Given the description of an element on the screen output the (x, y) to click on. 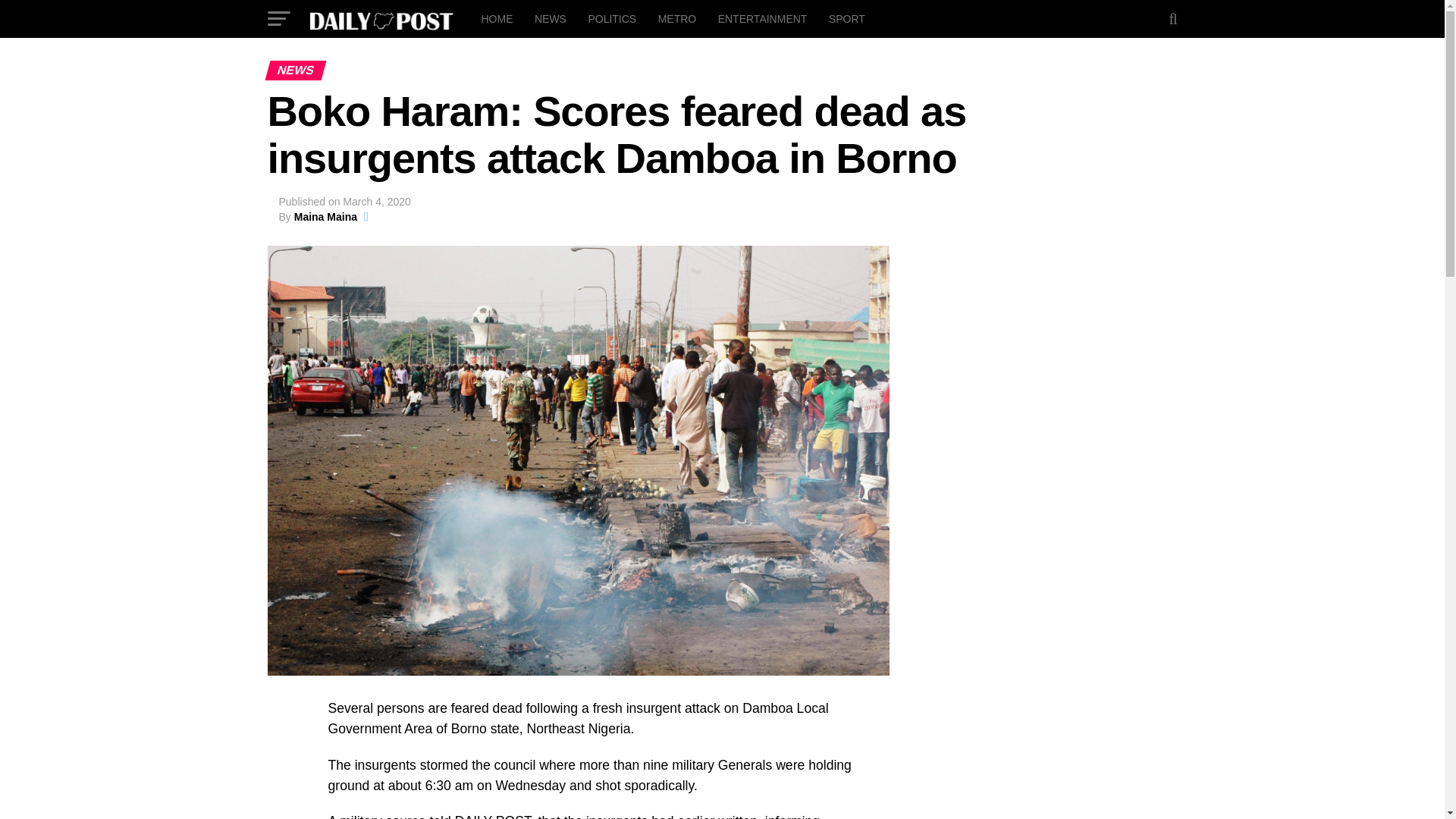
SPORT (847, 18)
NEWS (550, 18)
HOME (496, 18)
Posts by Maina Maina (325, 216)
Maina Maina (325, 216)
METRO (677, 18)
POLITICS (611, 18)
ENTERTAINMENT (762, 18)
